Given the description of an element on the screen output the (x, y) to click on. 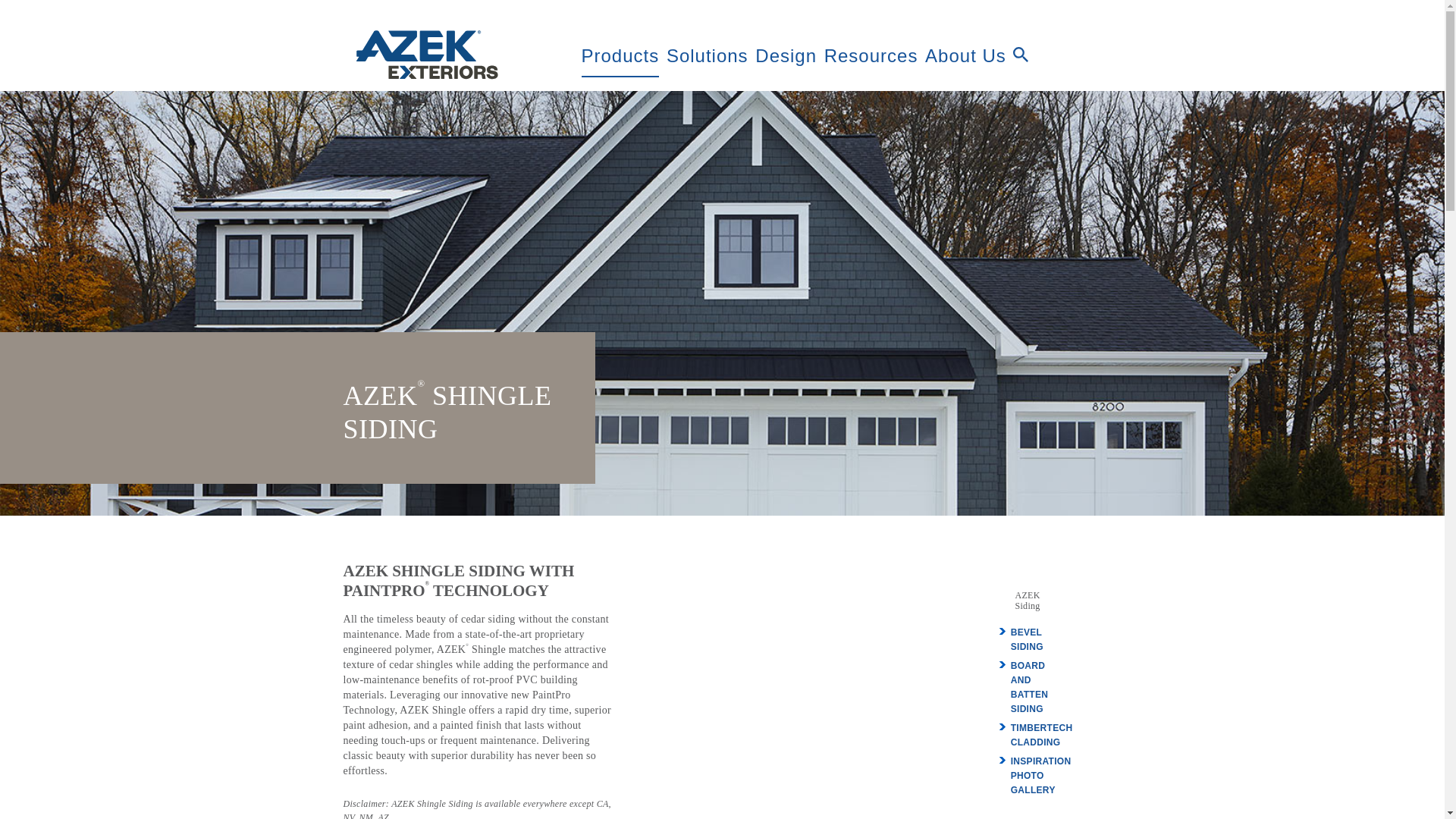
Products (619, 55)
